Given the description of an element on the screen output the (x, y) to click on. 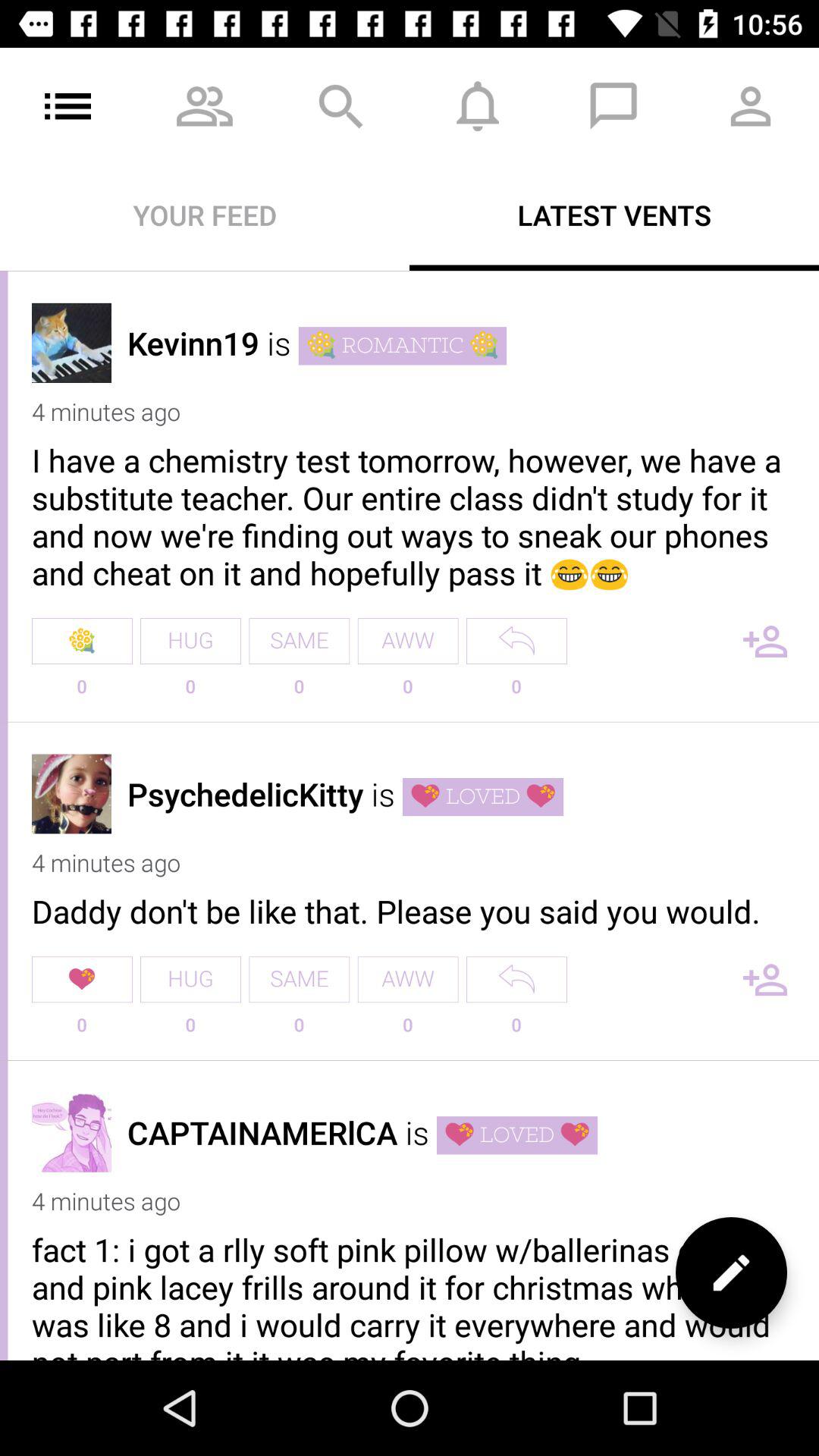
add to contacts (765, 979)
